Given the description of an element on the screen output the (x, y) to click on. 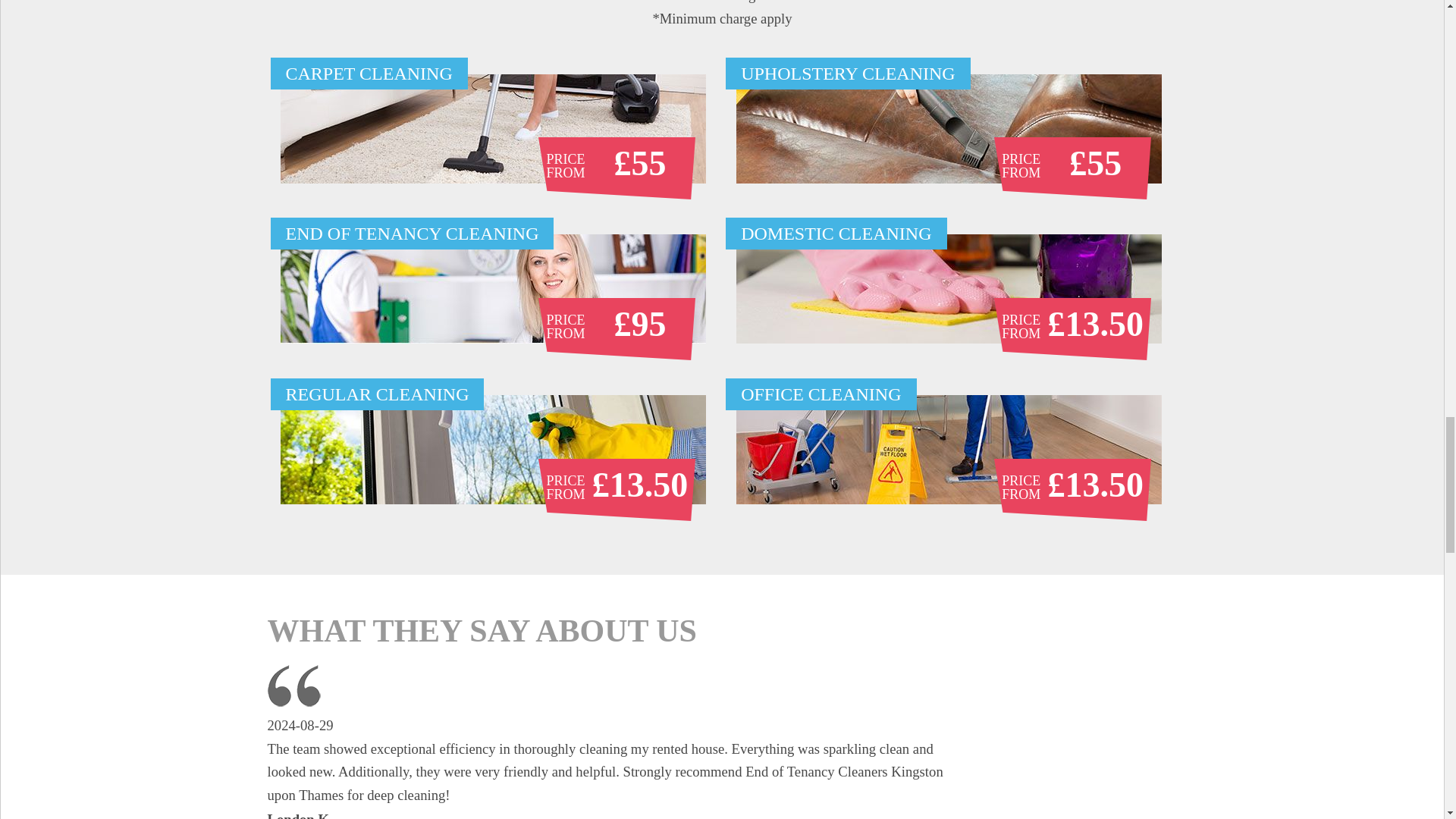
Kingston upon Thames Carpet Cleaners Office cleaning (948, 449)
Kingston upon Thames Carpet Cleaners Upholstery cleaning (948, 128)
Kingston upon Thames Carpet Cleaners End of tenancy cleaning (493, 288)
Kingston upon Thames Carpet Cleaners Domestic cleaning (948, 288)
Kingston upon Thames Carpet Cleaners Regular cleaning (493, 449)
Kingston upon Thames Carpet Cleaners Carpet cleaning (493, 128)
